Given the description of an element on the screen output the (x, y) to click on. 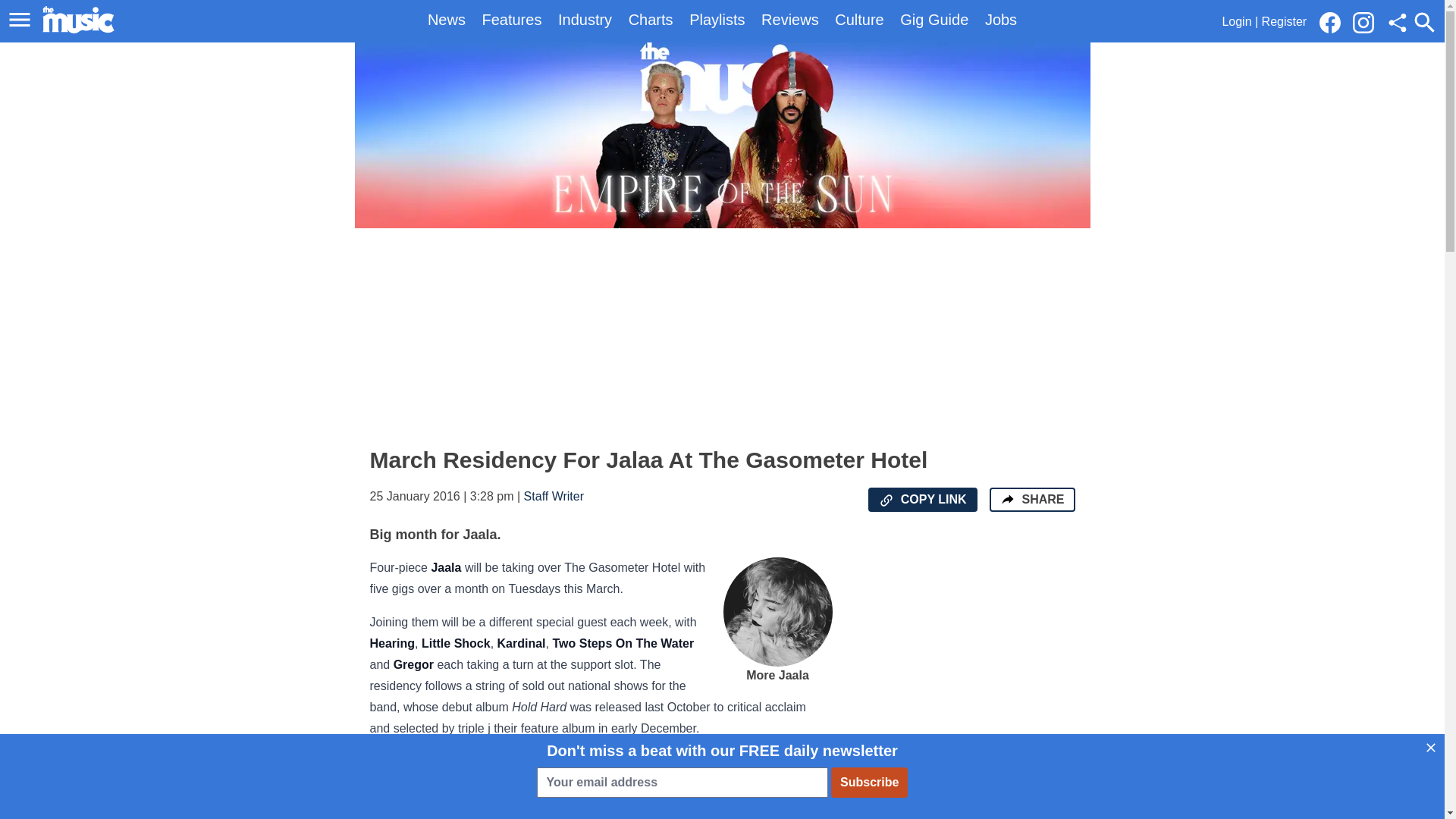
Open the site search menu (1424, 22)
Copy the page URL (886, 500)
Open the main menu (19, 19)
Share this page (1397, 22)
Copy the page URL COPY LINK (921, 499)
Staff Writer (553, 495)
Open the main menu (22, 19)
Playlists (716, 19)
3rd party ad content (961, 688)
Register (1284, 21)
Charts (650, 19)
News (446, 19)
